Given the description of an element on the screen output the (x, y) to click on. 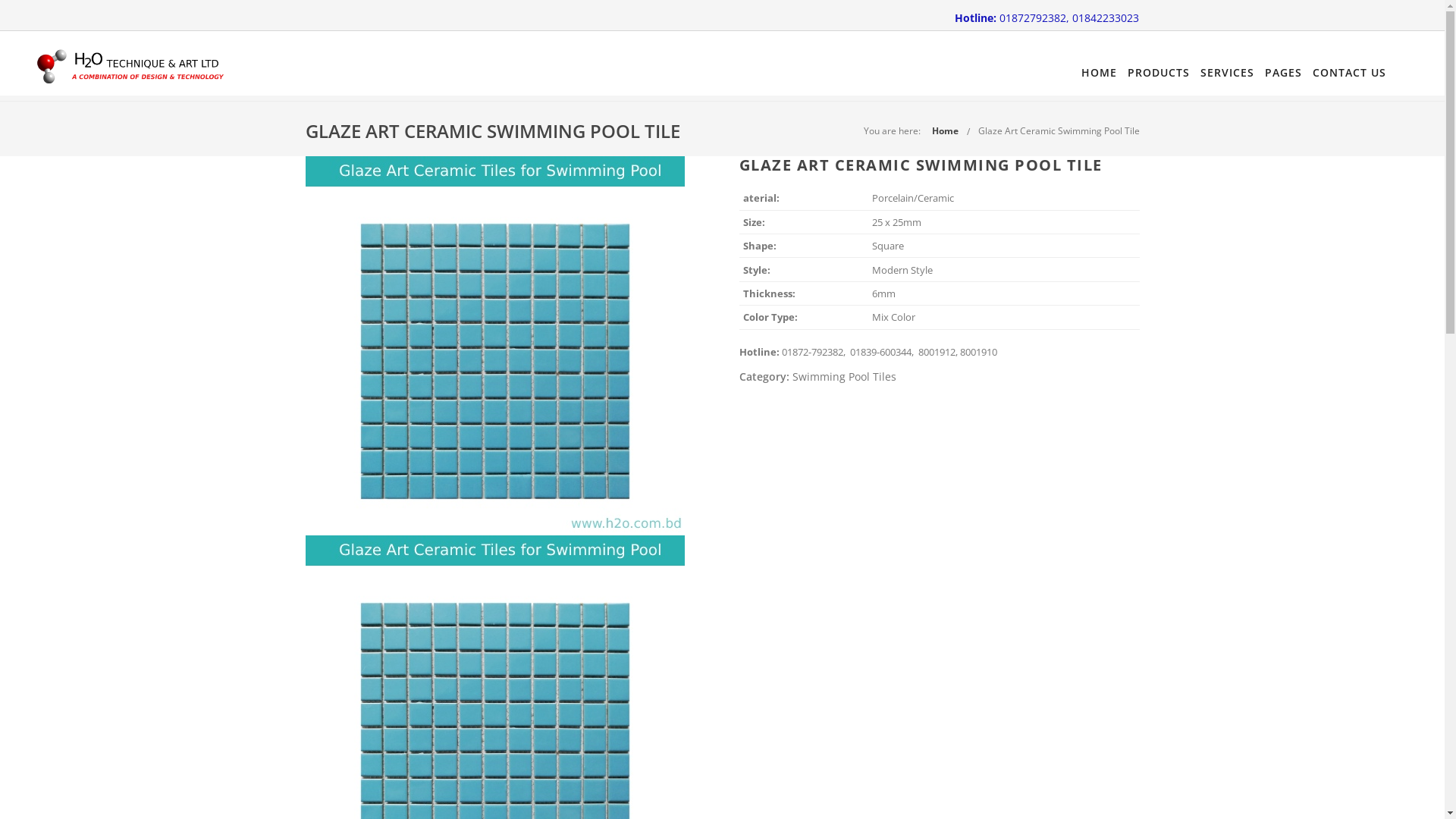
Glaze Art Ceramic Swimming Pool Tile Element type: text (1058, 130)
PAGES Element type: text (1283, 72)
Home Element type: text (944, 130)
Swimming Pool Tiles Element type: text (843, 376)
PRODUCTS Element type: text (1158, 72)
Glaze Art Ceramic Swimming Pool Tile Element type: hover (494, 345)
HOME Element type: text (1099, 72)
CONTACT US Element type: text (1349, 72)
SERVICES Element type: text (1227, 72)
